Given the description of an element on the screen output the (x, y) to click on. 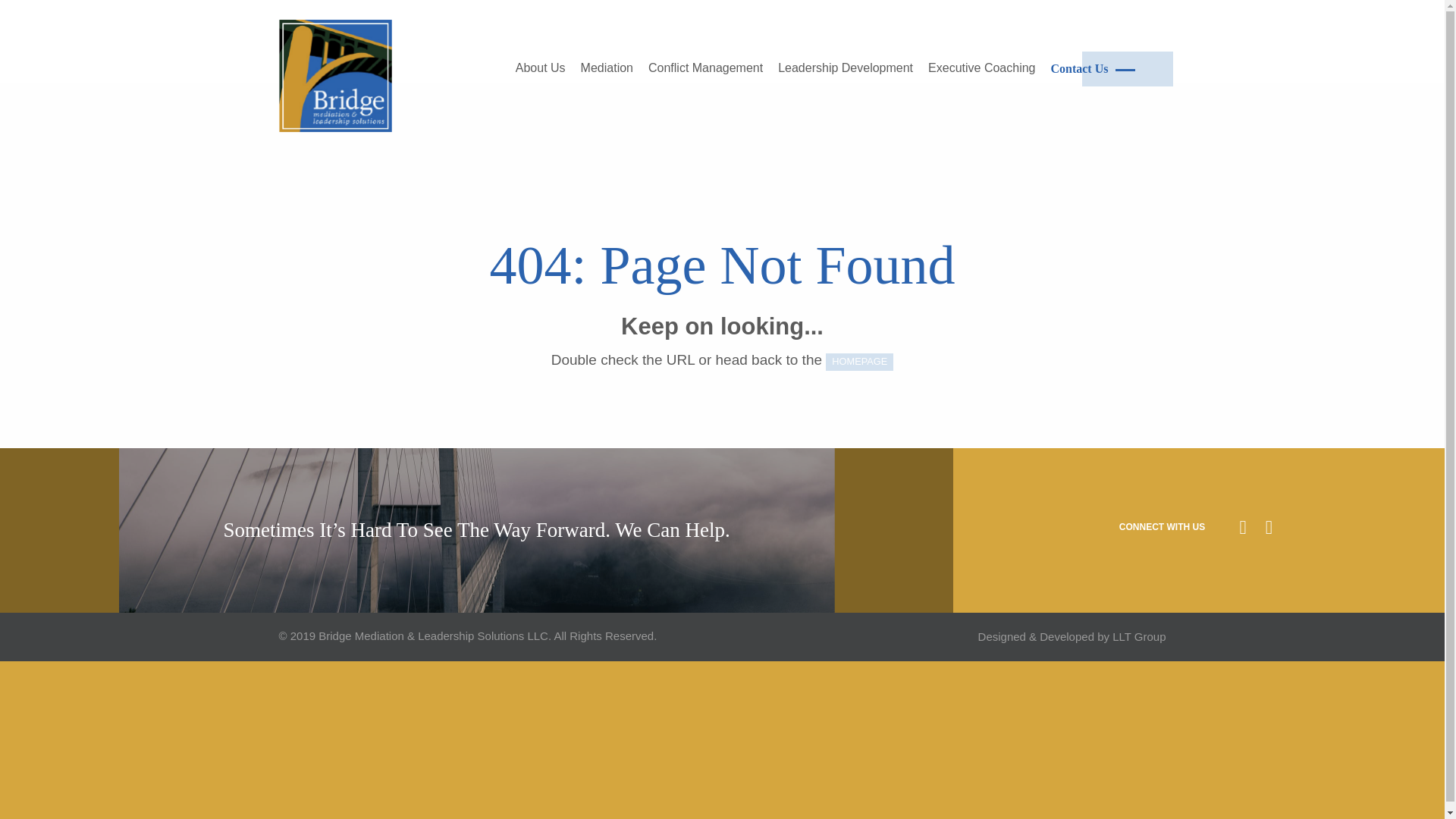
LLT Group (1139, 635)
Leadership Development (845, 68)
Contact Us (1092, 68)
Executive Coaching (981, 68)
Conflict Management (705, 68)
About Us (540, 68)
HOMEPAGE (859, 361)
Mediation (606, 68)
